Given the description of an element on the screen output the (x, y) to click on. 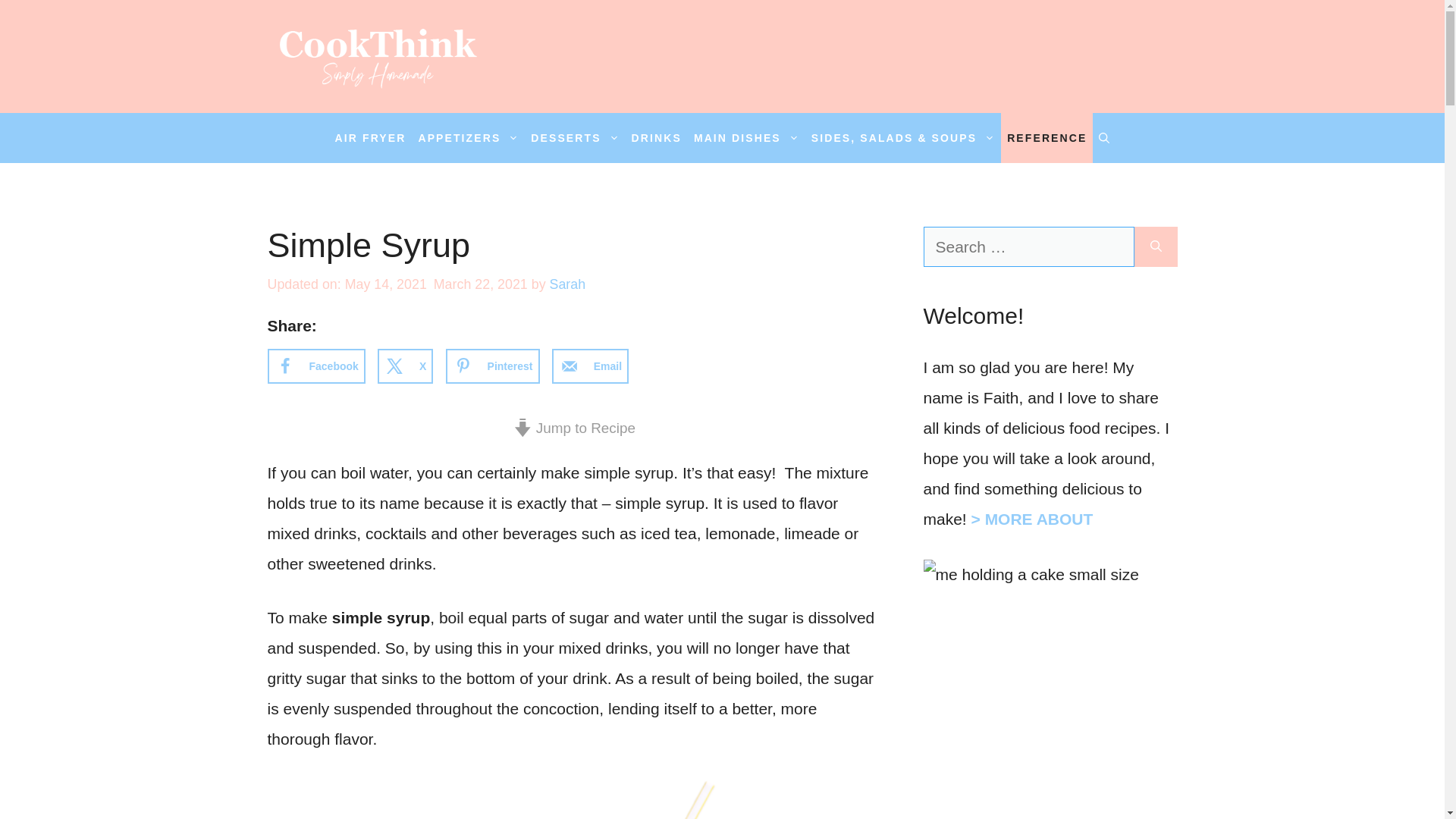
Save to Pinterest (492, 366)
DRINKS (656, 137)
Pinterest (492, 366)
APPETIZERS (468, 137)
View all posts by Sarah (568, 283)
Send over email (589, 366)
DESSERTS (574, 137)
Jump to Recipe (574, 428)
AIR FRYER (370, 137)
Share on Facebook (315, 366)
